Given the description of an element on the screen output the (x, y) to click on. 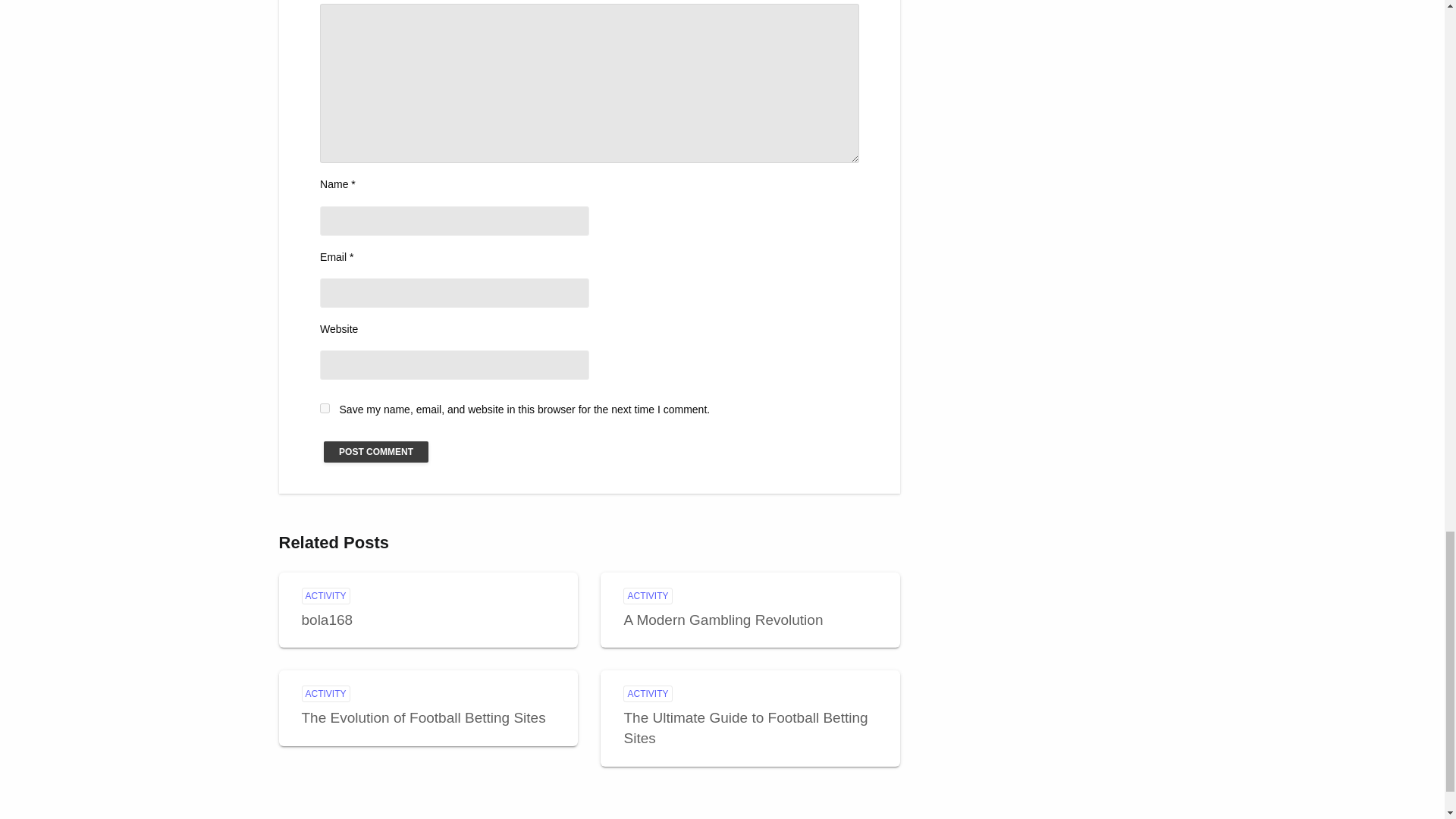
ACTIVITY (325, 693)
bola168 (327, 619)
The Ultimate Guide to Football Betting Sites (745, 728)
A Modern Gambling Revolution (722, 619)
Post Comment (375, 451)
yes (325, 408)
ACTIVITY (325, 596)
ACTIVITY (647, 693)
The Evolution of Football Betting Sites (423, 717)
Post Comment (375, 451)
